Given the description of an element on the screen output the (x, y) to click on. 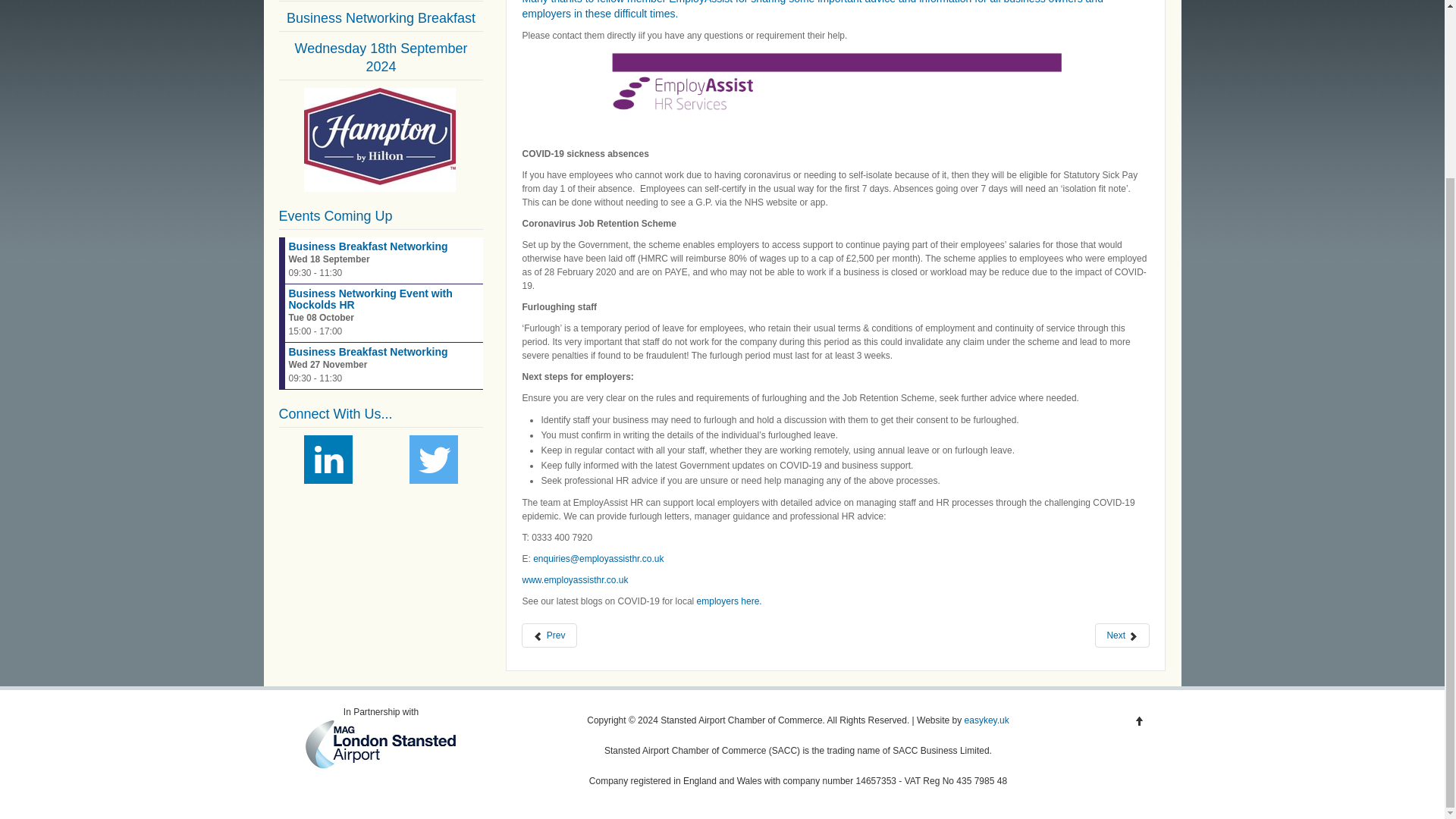
Back to top (1139, 719)
www.employassisthr.co.uk (574, 579)
Business Breakfast Networking (367, 246)
Business Breakfast Networking (367, 351)
Next (1122, 635)
easykey.uk (986, 719)
Prev (548, 635)
Business Networking Event with Nockolds HR (369, 299)
employers here. (729, 601)
